Given the description of an element on the screen output the (x, y) to click on. 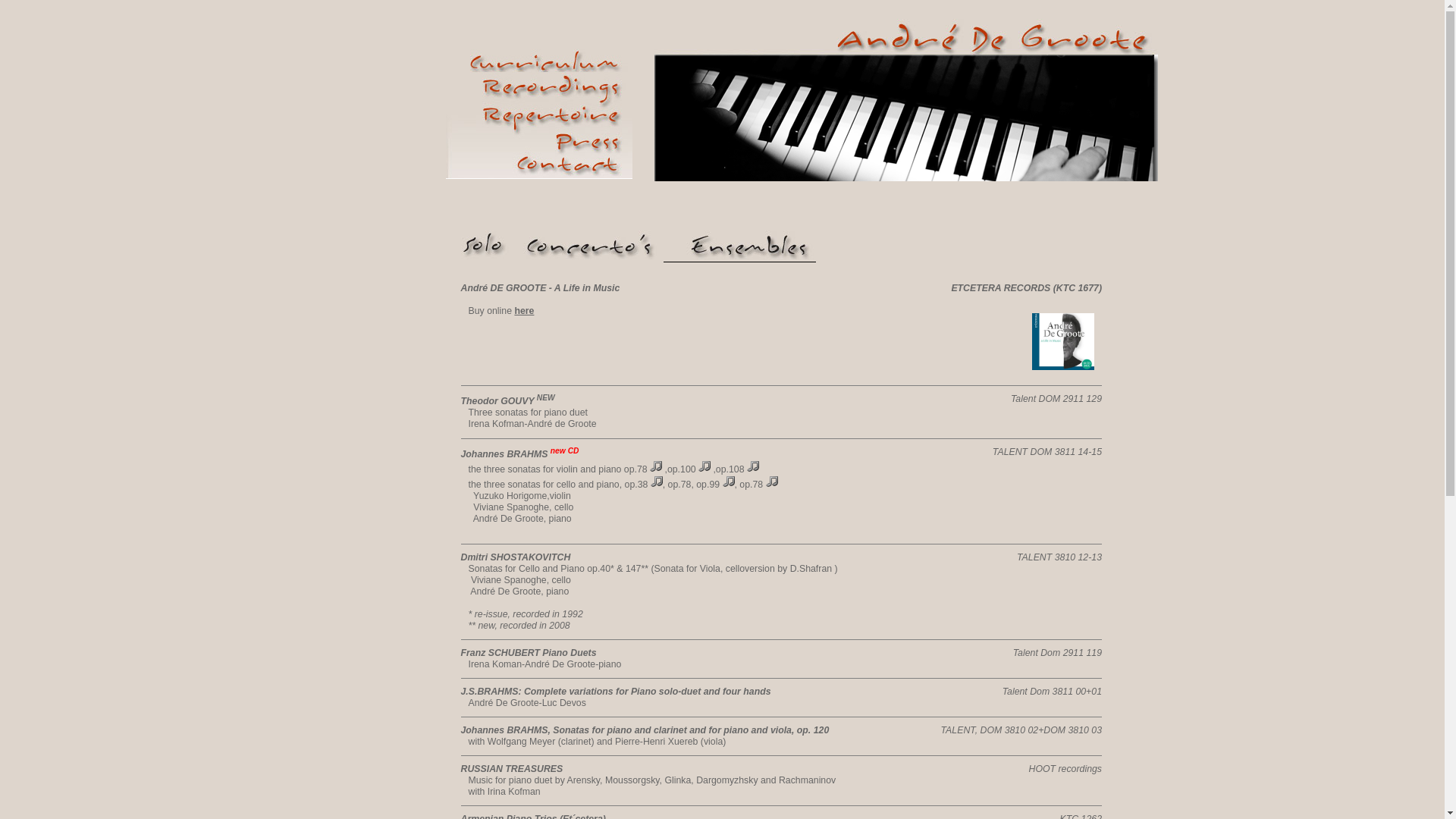
here Element type: text (523, 310)
ETCETERA RECORDS (KTC 1677) Element type: text (1025, 287)
NEW Element type: text (545, 397)
